Given the description of an element on the screen output the (x, y) to click on. 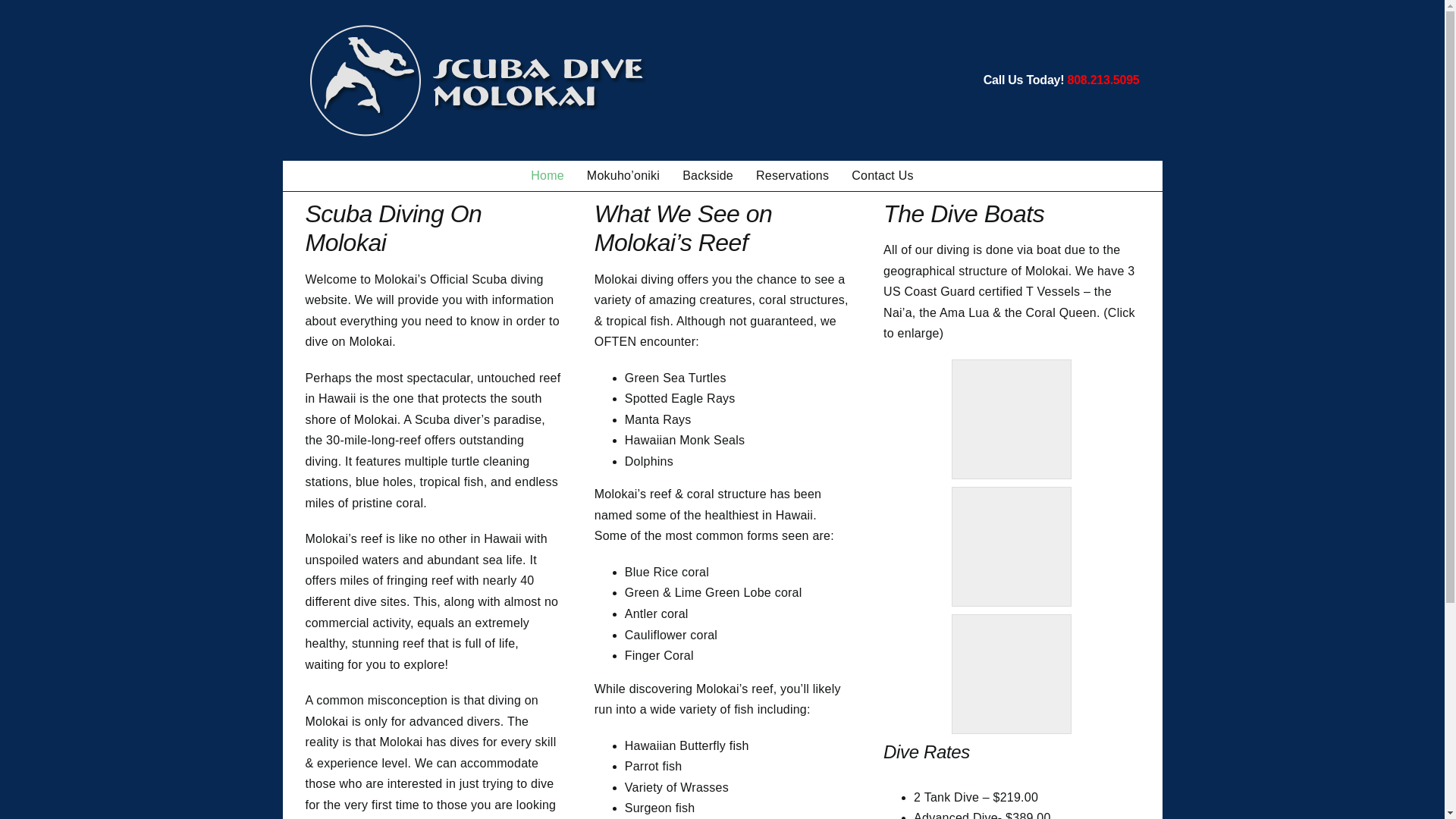
Reservations (791, 175)
Contact Us (882, 175)
808.213.5095 (1103, 79)
Home (547, 175)
Backside (707, 175)
